Given the description of an element on the screen output the (x, y) to click on. 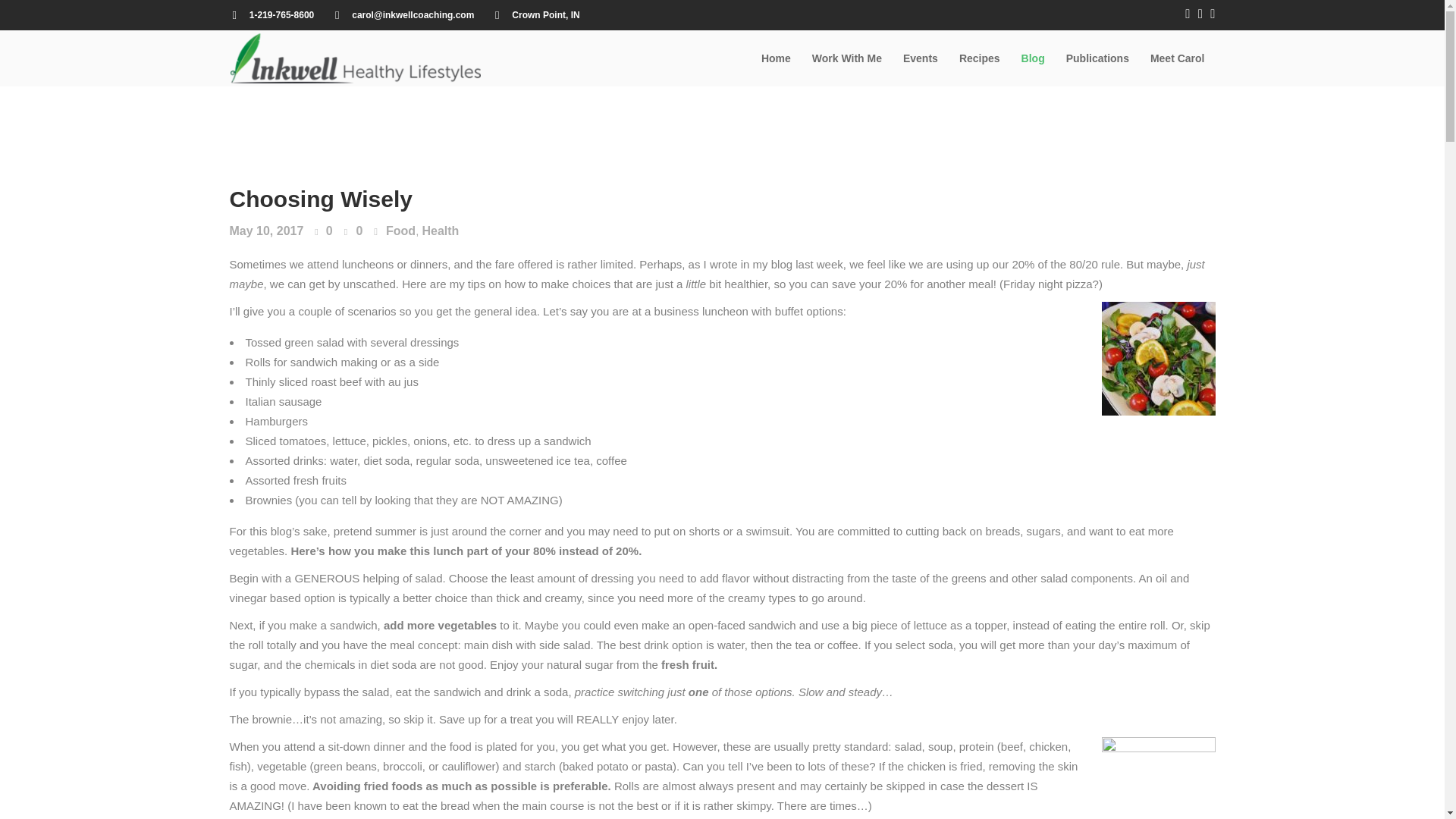
Publications (1097, 58)
Recipes (979, 58)
Choosing Wisely (320, 198)
Meet Carol (1177, 58)
Events (920, 58)
Like this (322, 231)
Home (776, 58)
Work With Me (847, 58)
